Given the description of an element on the screen output the (x, y) to click on. 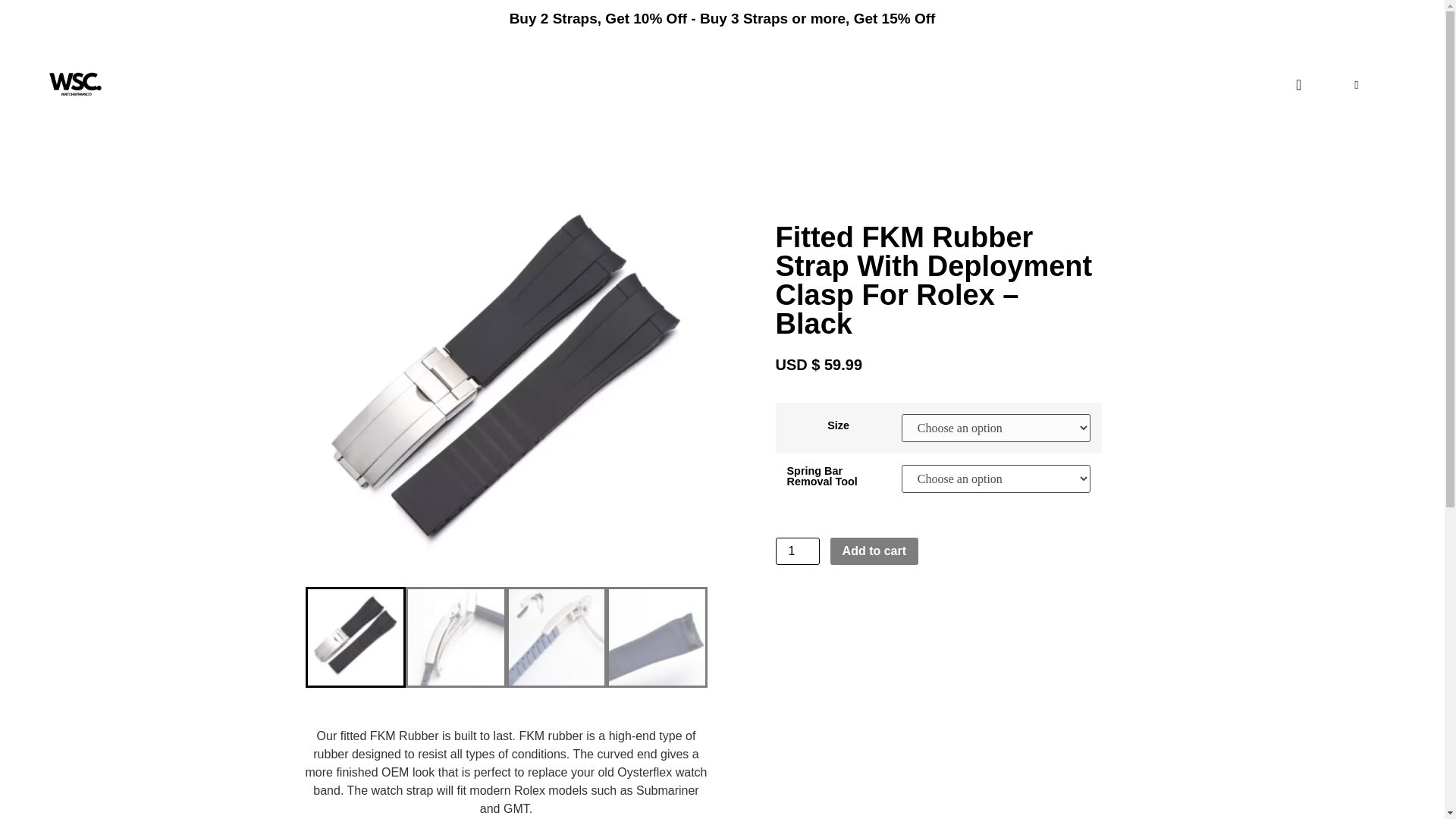
1 (796, 551)
